Given the description of an element on the screen output the (x, y) to click on. 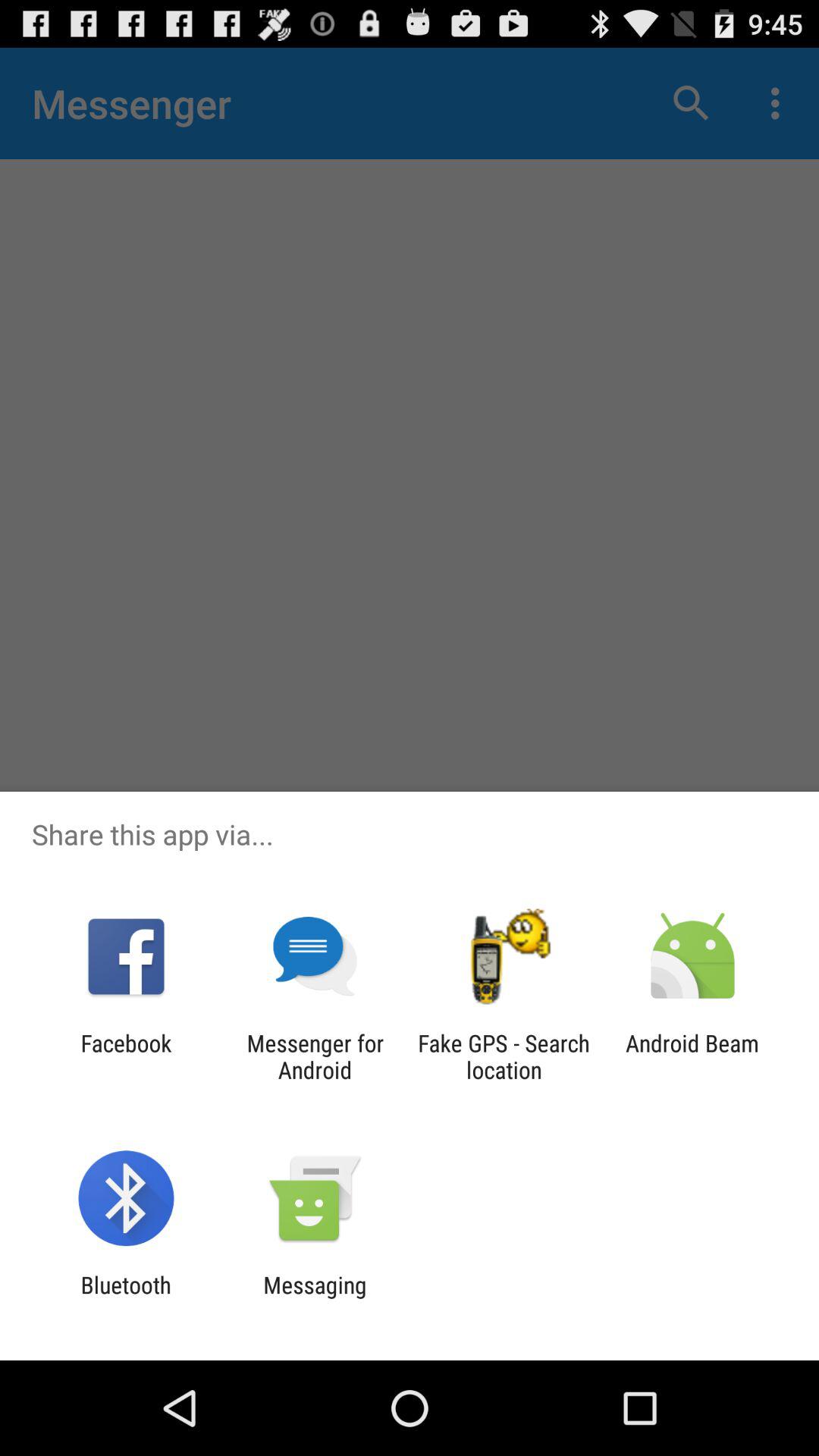
swipe to the fake gps search app (503, 1056)
